Given the description of an element on the screen output the (x, y) to click on. 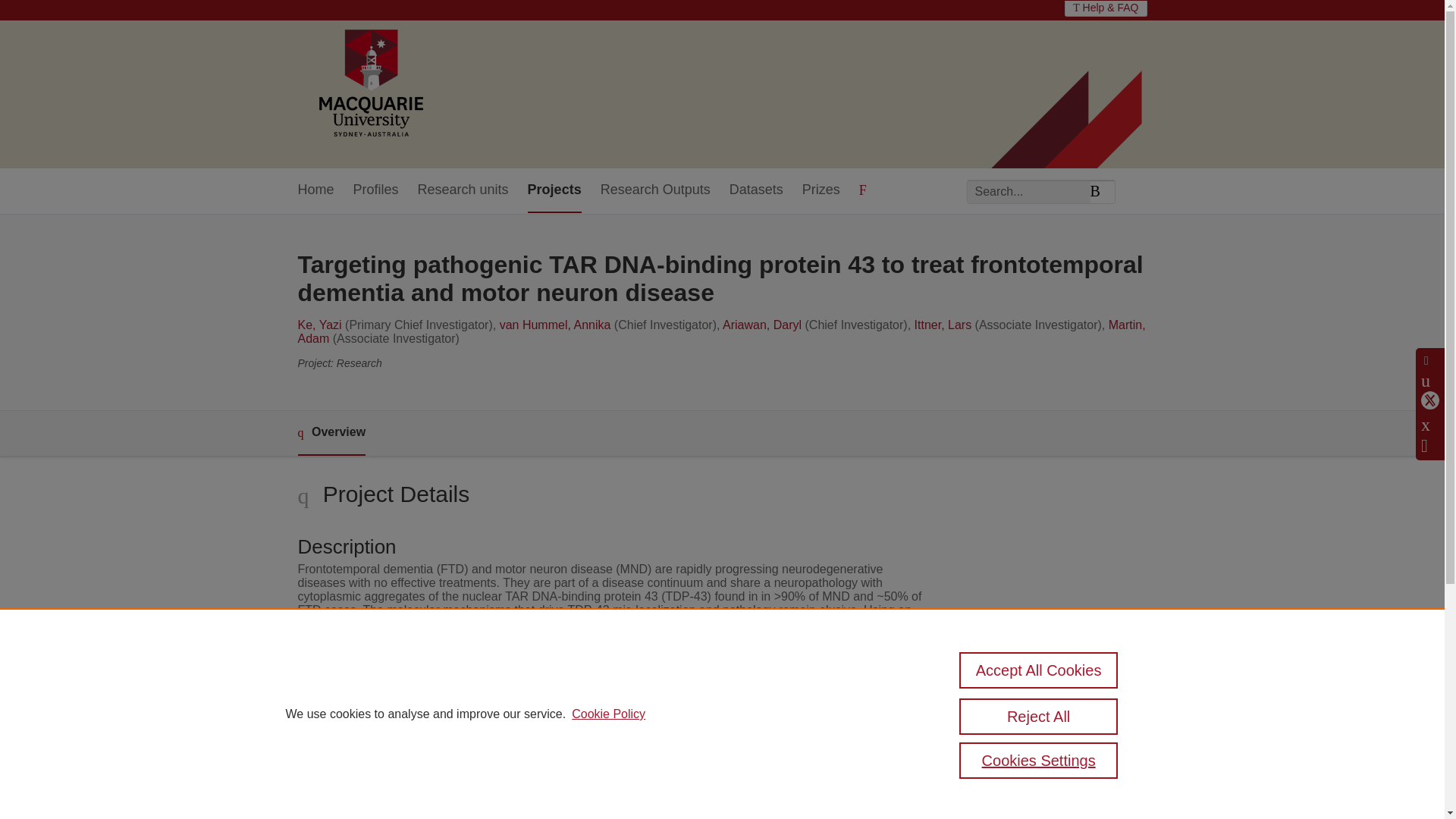
Ke, Yazi (318, 324)
Datasets (756, 190)
Macquarie University Home (369, 84)
Research units (462, 190)
Research Outputs (654, 190)
Overview (331, 433)
Ariawan, Daryl (762, 324)
Cookie Policy (608, 713)
Profiles (375, 190)
